Given the description of an element on the screen output the (x, y) to click on. 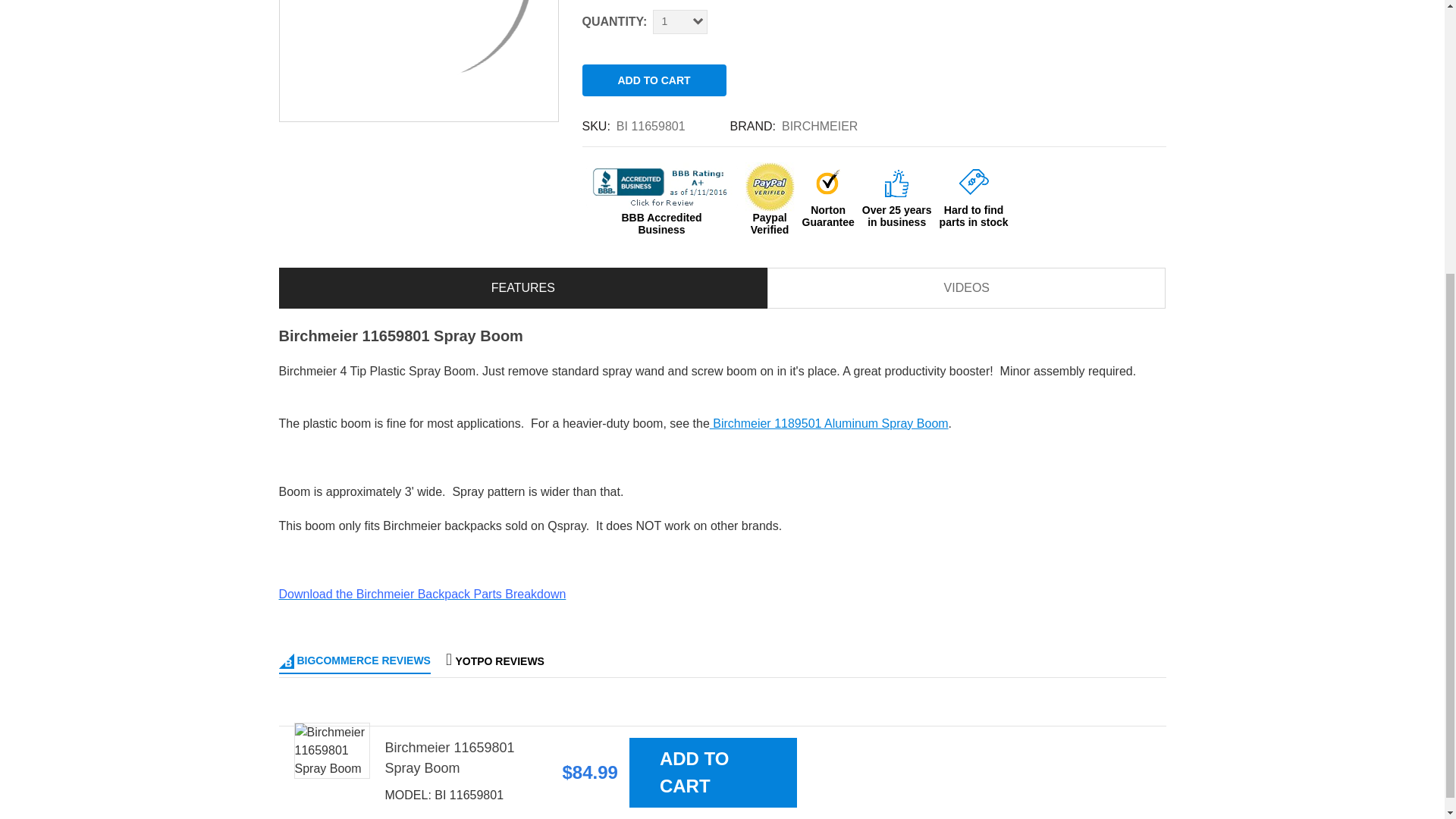
Birchmeier 11659801 Spray Boom (418, 60)
birchmeier aluminum spray boom (829, 422)
Download Birchmeier Backpack Parts Breakdown (422, 594)
Add to Cart (654, 80)
